Given the description of an element on the screen output the (x, y) to click on. 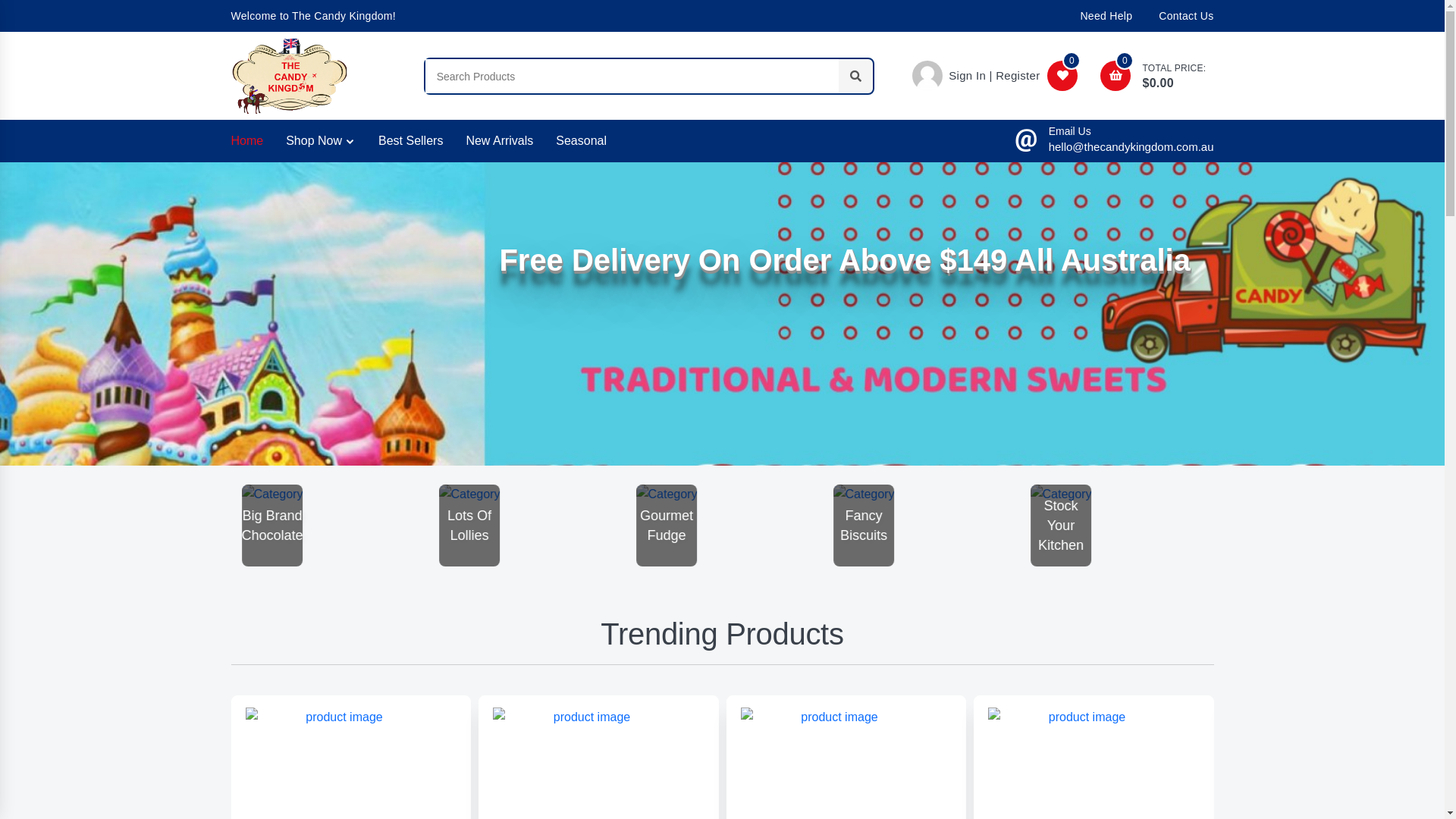
Sweets Tub Element type: text (662, 525)
Save Your Pocket Element type: text (268, 525)
Need Help Element type: text (1105, 15)
Big Brand Chocolate Element type: text (1057, 525)
Chill It!!! Element type: text (465, 525)
New Arrivals Element type: text (499, 140)
hello@thecandykingdom.com.au Element type: text (1131, 146)
Seasonal Element type: text (580, 140)
Sign In | Register Element type: text (979, 75)
Shop Now Element type: text (320, 140)
0
TOTAL PRICE:
$0.00 Element type: text (1156, 75)
Best Sellers Element type: text (410, 140)
0 Element type: text (1066, 75)
Home Element type: text (246, 140)
Contact Us Element type: text (1185, 15)
Party Novelty Element type: text (860, 525)
